Given the description of an element on the screen output the (x, y) to click on. 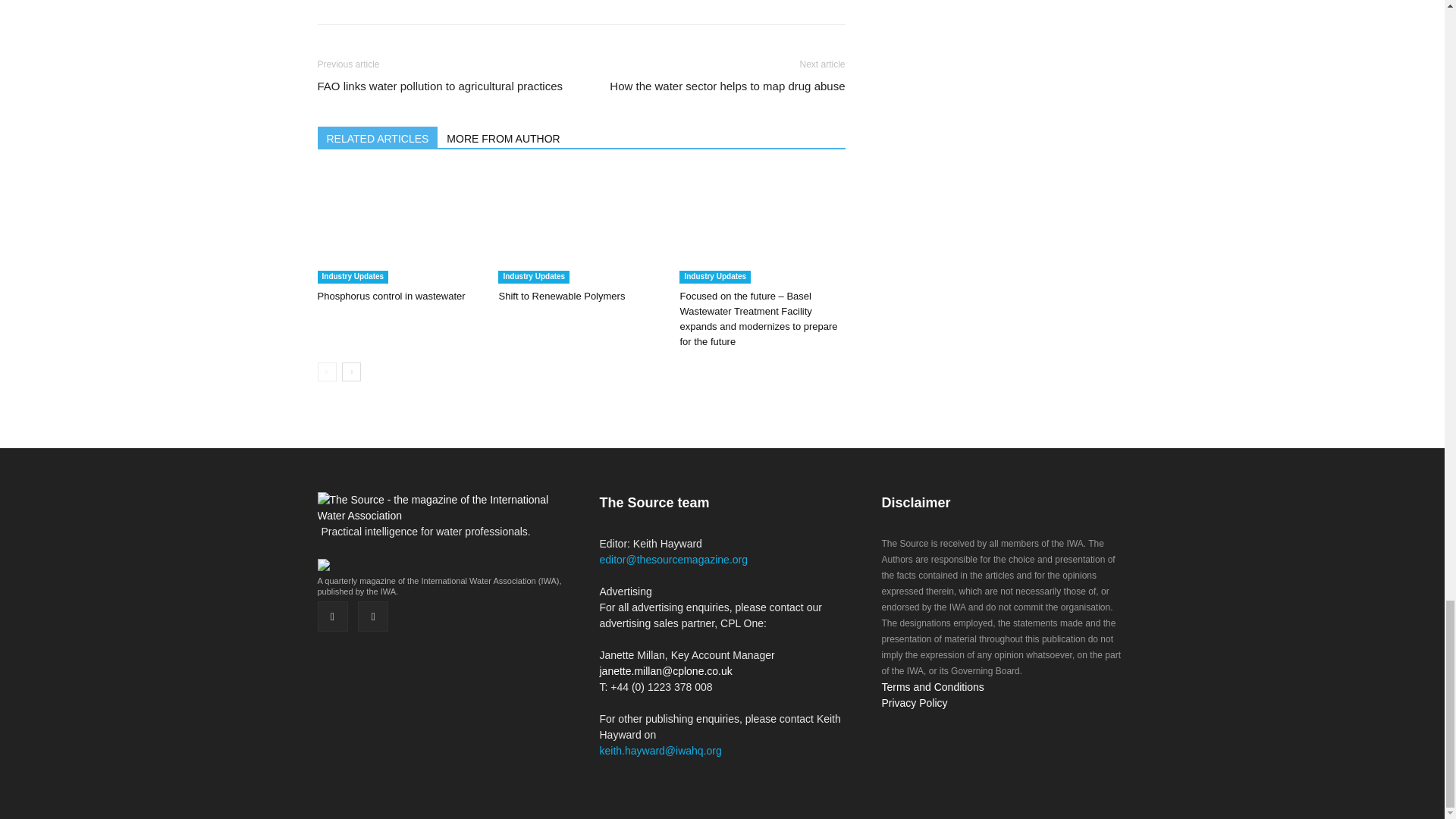
Shift to Renewable Polymers (580, 226)
Phosphorus control in wastewater (399, 226)
Shift to Renewable Polymers (560, 296)
Phosphorus control in wastewater (390, 296)
